Given the description of an element on the screen output the (x, y) to click on. 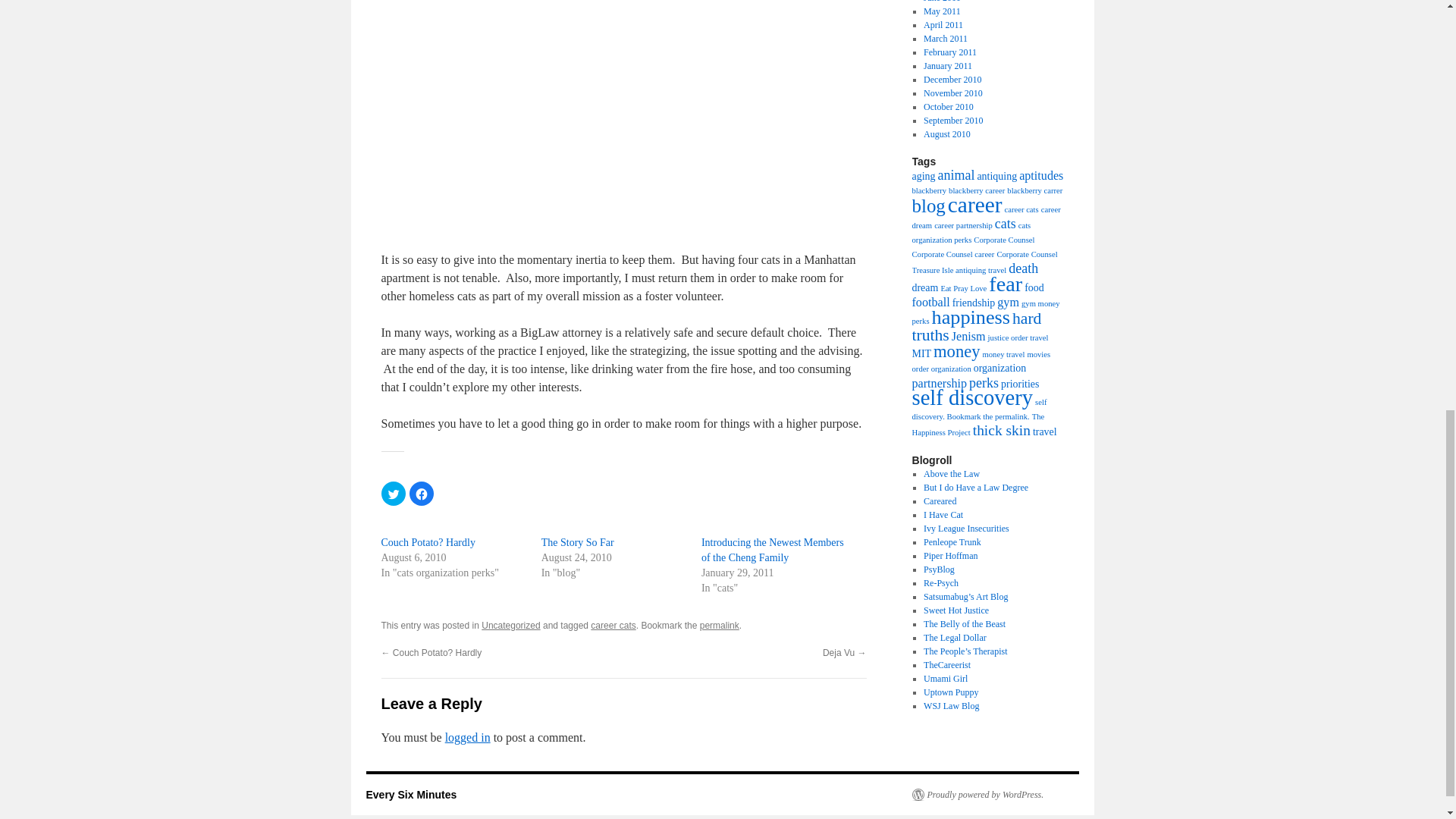
Uncategorized (510, 624)
Semantic Personal Publishing Platform (977, 794)
Introducing the Newest Members of the Cheng Family (772, 550)
career cats (612, 624)
Permalink to Saying Goodbye (719, 624)
Click to share on Twitter (392, 493)
Every Six Minutes (411, 794)
permalink (719, 624)
Click to share on Facebook (421, 493)
logged in (467, 737)
